Given the description of an element on the screen output the (x, y) to click on. 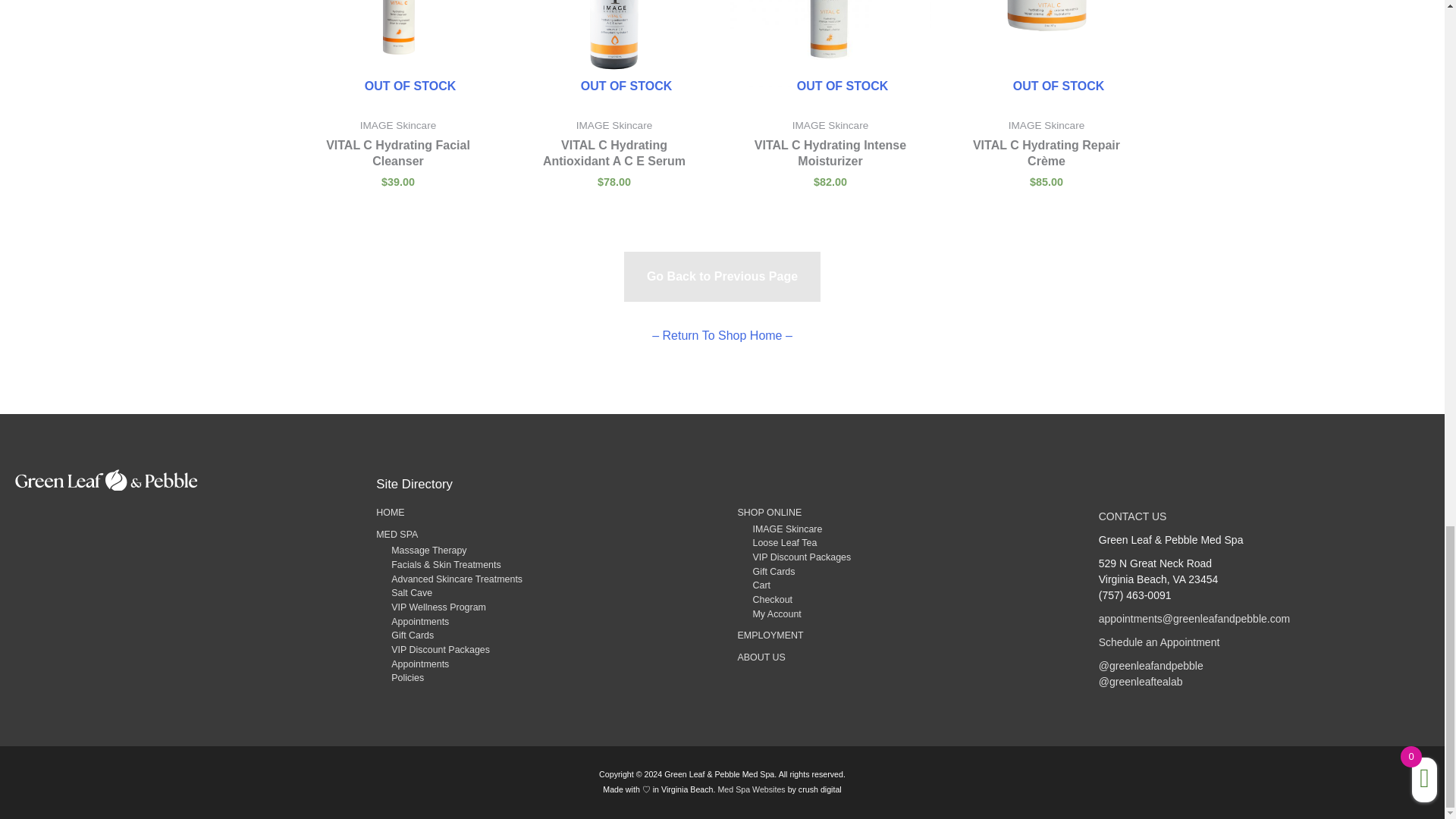
Go Back to Previous Page (722, 276)
